Given the description of an element on the screen output the (x, y) to click on. 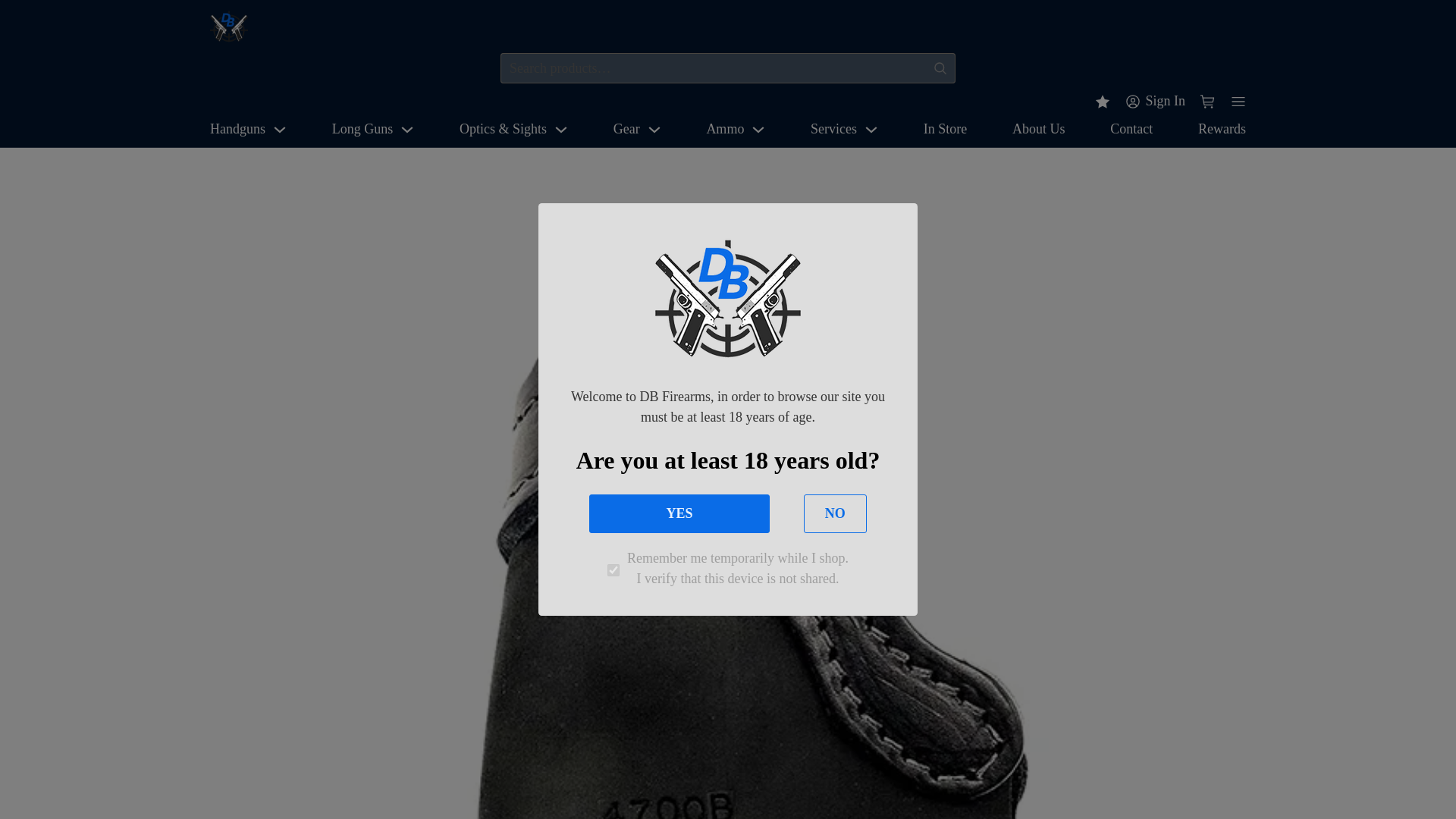
Sign In (1155, 100)
Handguns (236, 128)
on (613, 570)
Long Guns (362, 128)
